Given the description of an element on the screen output the (x, y) to click on. 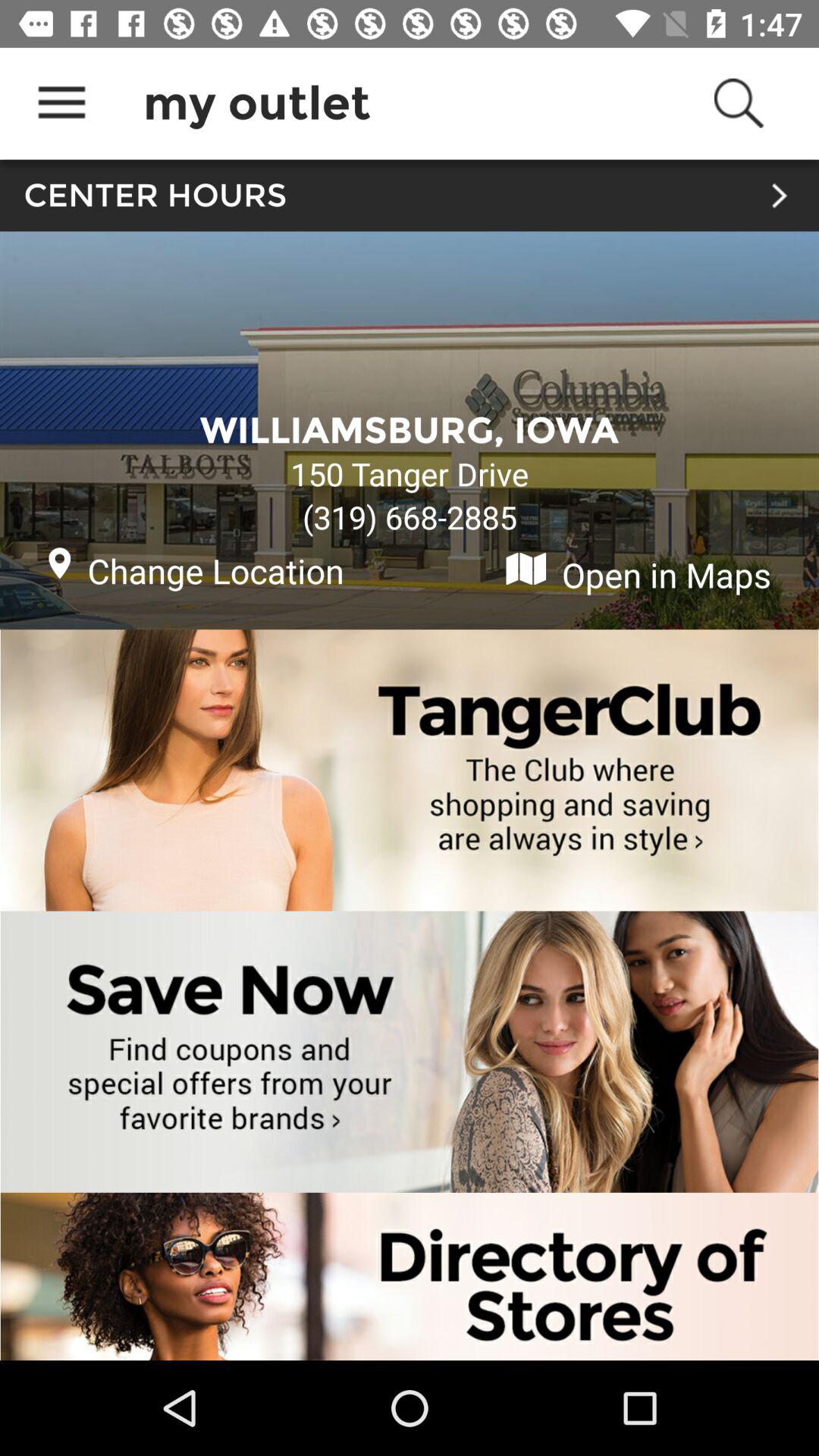
scroll to the (319) 668-2885 item (409, 516)
